Given the description of an element on the screen output the (x, y) to click on. 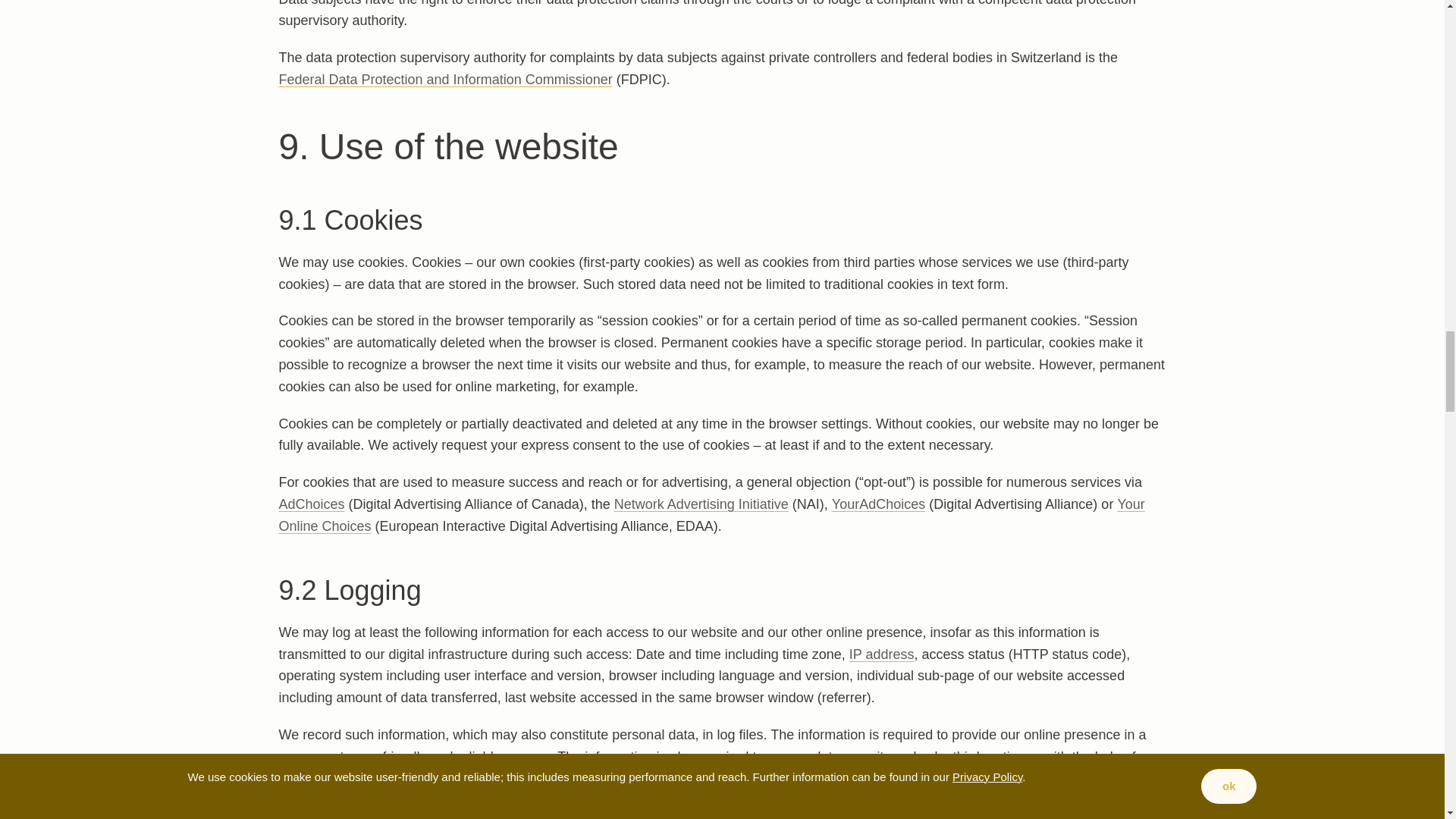
Network Advertising Initiative (701, 503)
AdChoices (310, 503)
Federal Data Protection and Information Commissioner (444, 79)
YourAdChoices (877, 503)
IP address (881, 653)
Your Online Choices (711, 514)
